Given the description of an element on the screen output the (x, y) to click on. 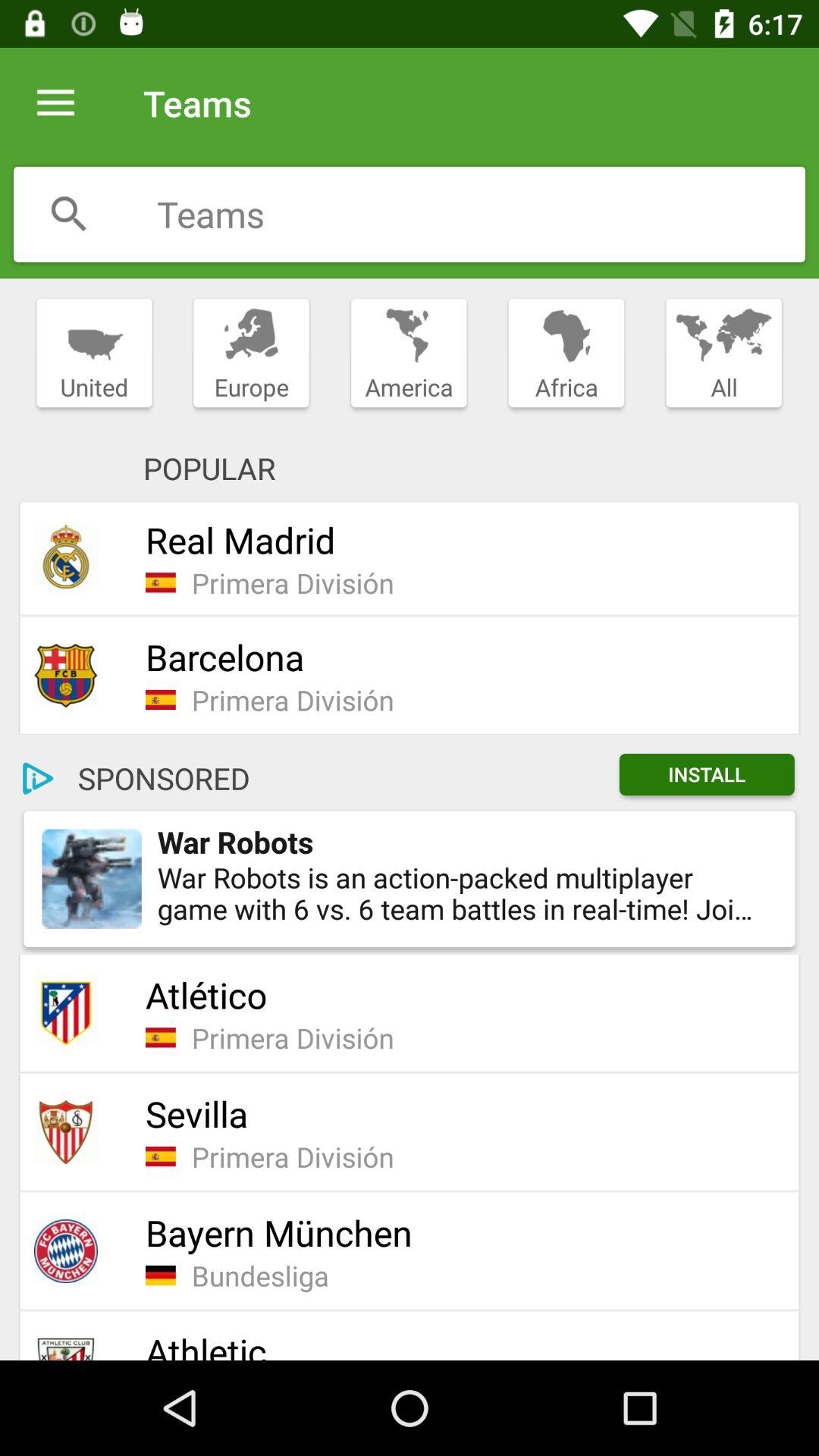
search (480, 214)
